Given the description of an element on the screen output the (x, y) to click on. 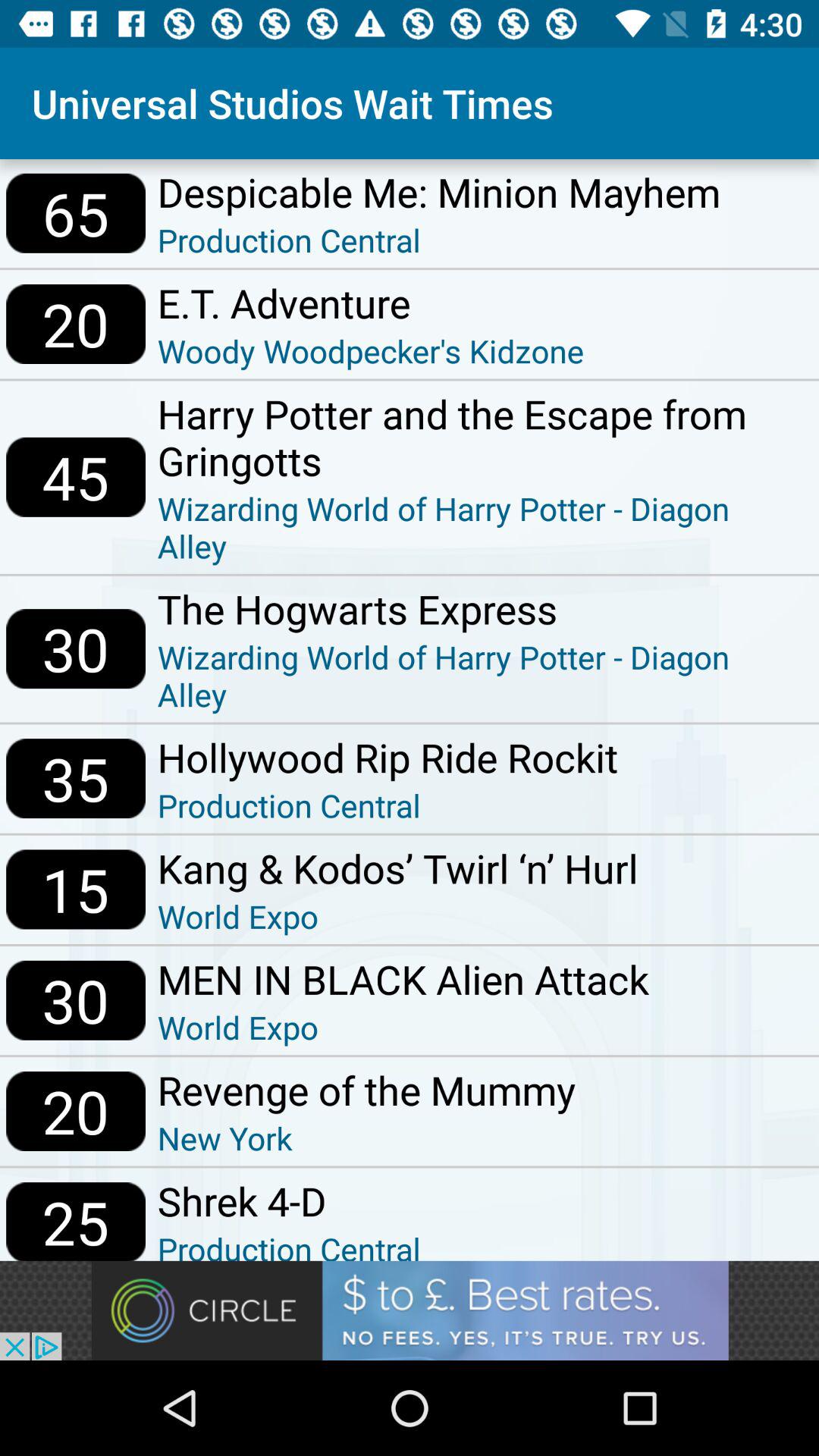
jump until woody woodpecker s (370, 350)
